Given the description of an element on the screen output the (x, y) to click on. 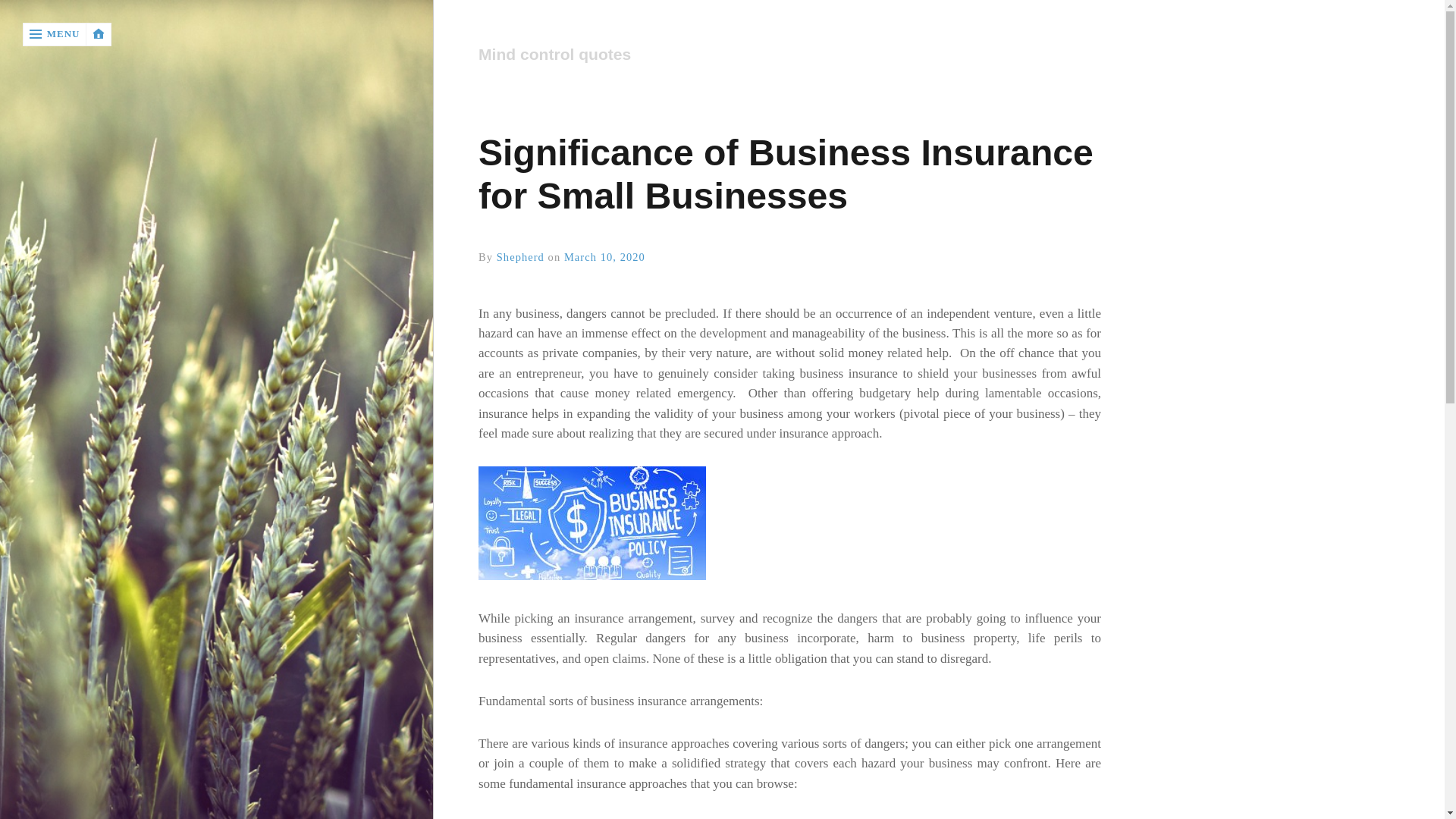
MENU (55, 33)
Home (789, 54)
5:48 am (604, 256)
March 10, 2020 (604, 256)
Mind control quotes (781, 54)
Shepherd (520, 256)
View all posts by Shepherd (520, 256)
